Given the description of an element on the screen output the (x, y) to click on. 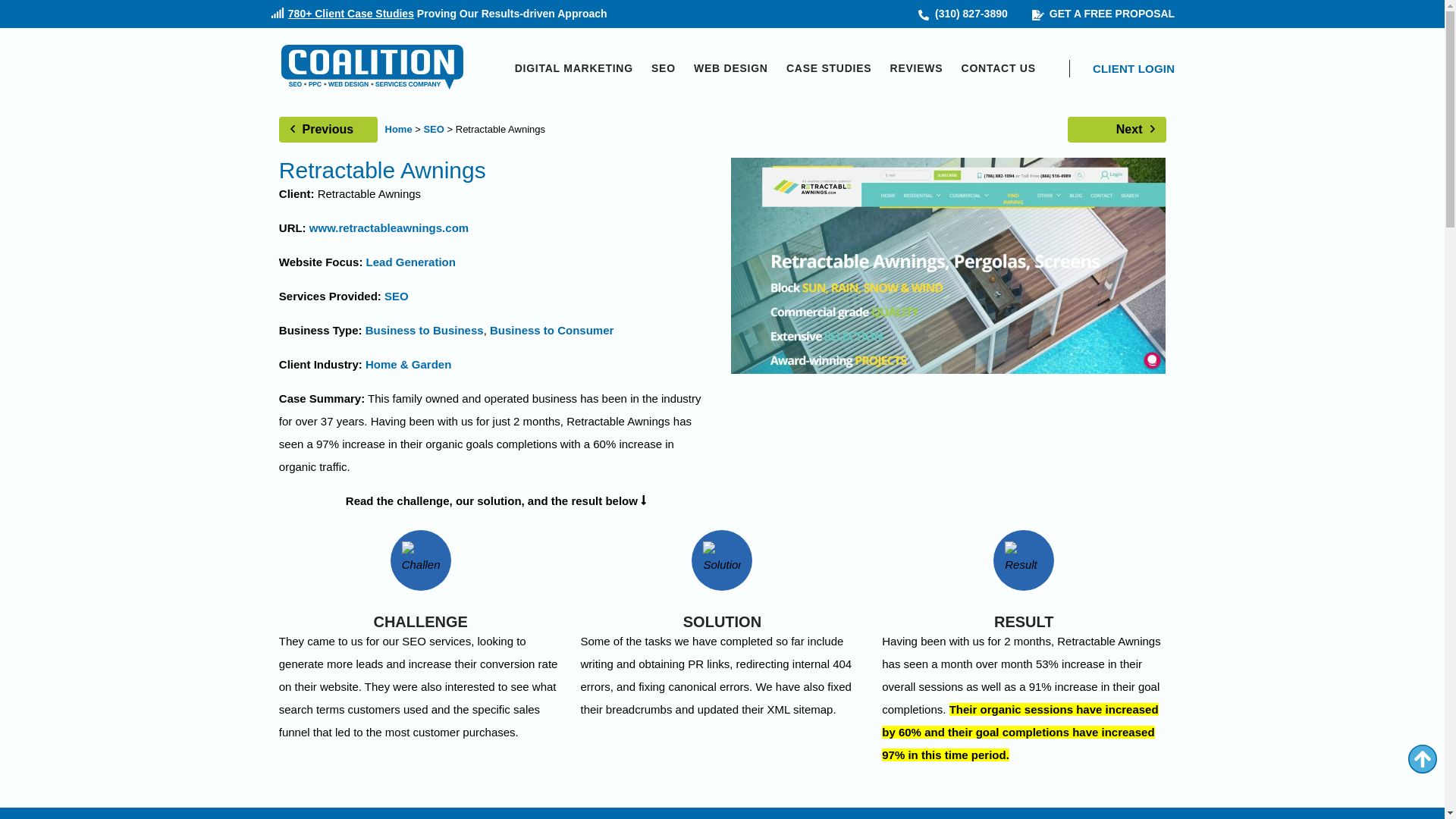
SEO (662, 67)
Coalition Technologies (372, 68)
DIGITAL MARKETING (574, 67)
GET A FREE PROPOSAL (1102, 13)
Digital Marketing (574, 67)
